Given the description of an element on the screen output the (x, y) to click on. 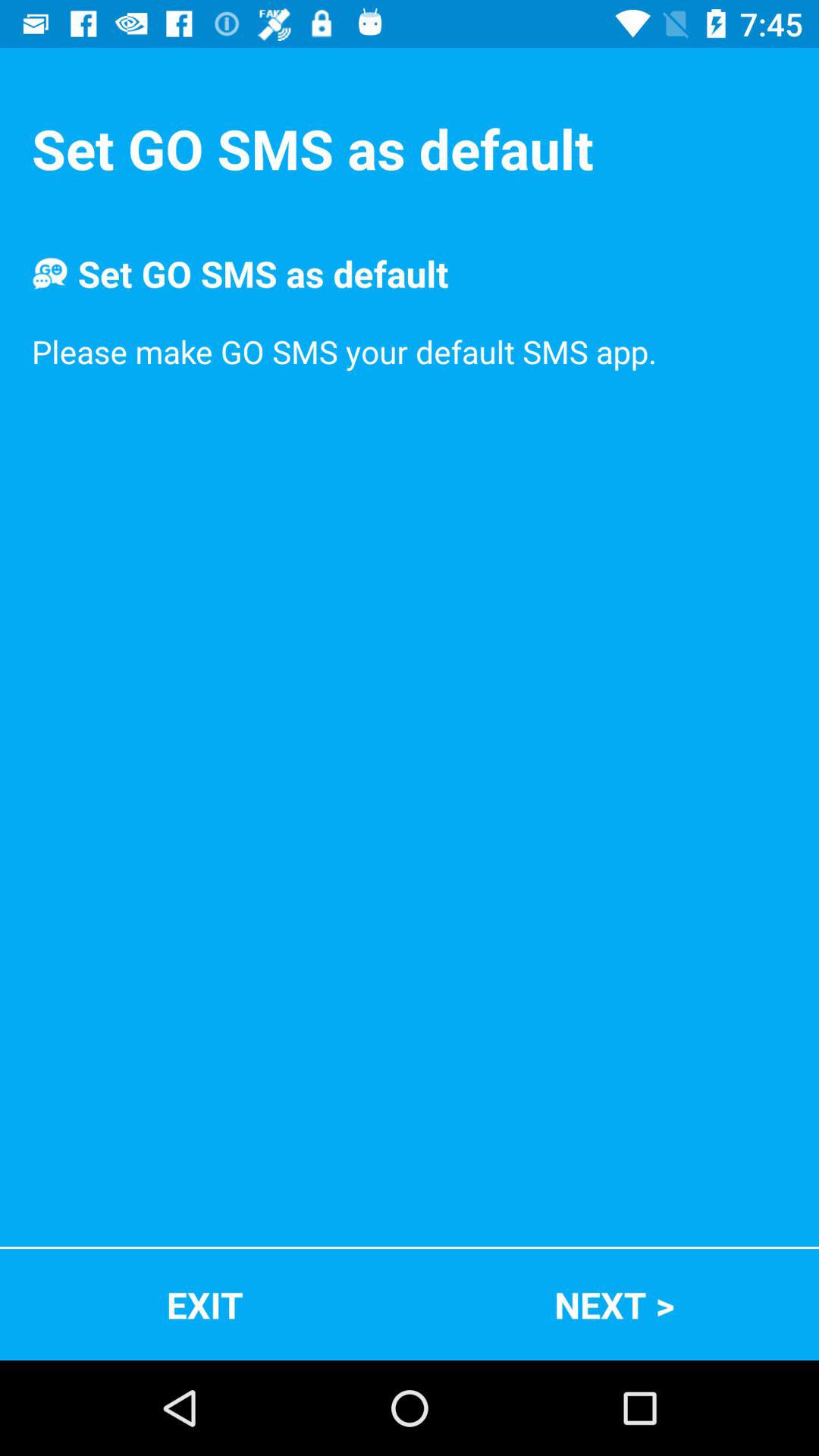
open icon at the bottom left corner (204, 1304)
